Given the description of an element on the screen output the (x, y) to click on. 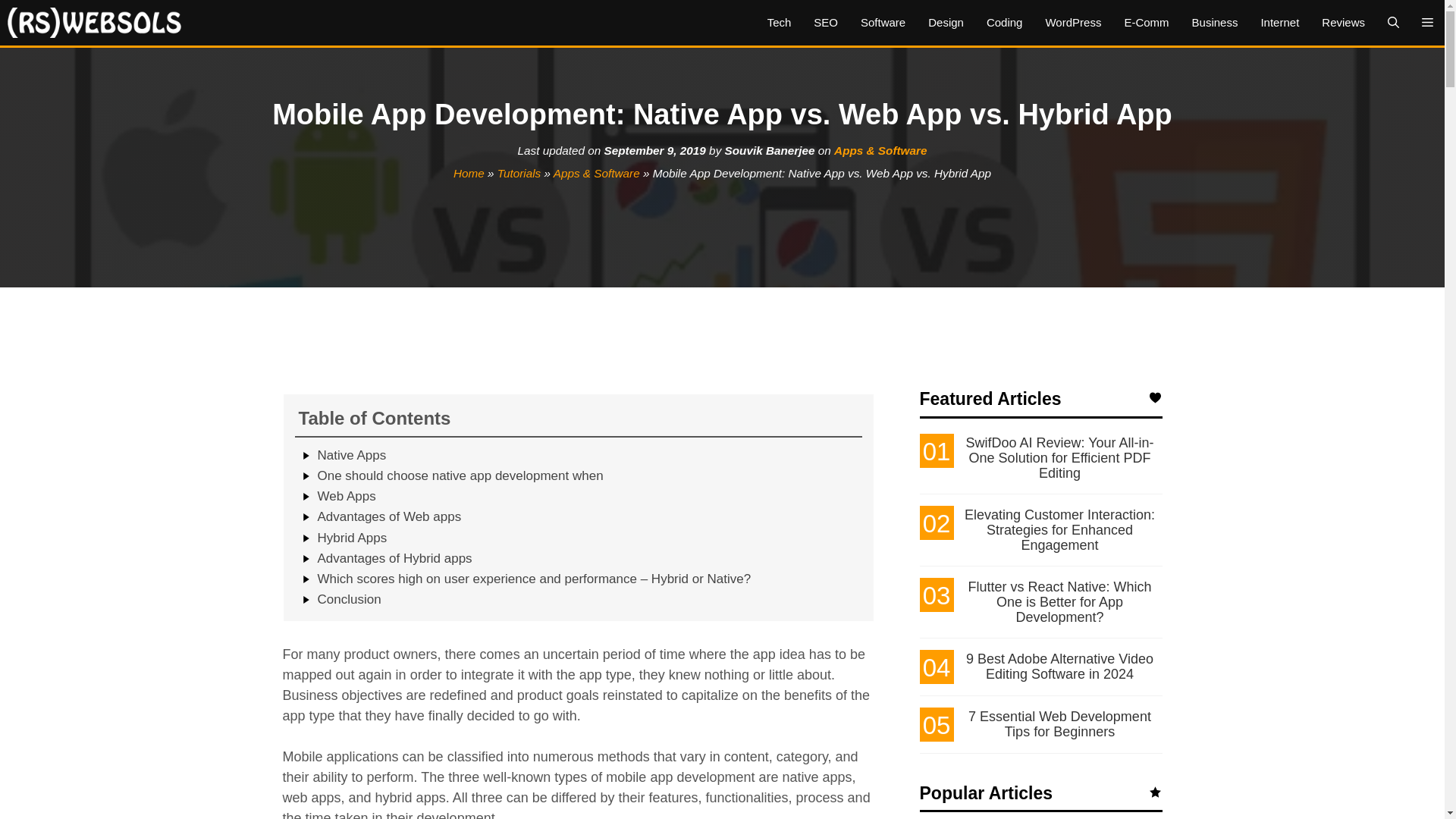
Hybrid Apps (352, 537)
Home (468, 173)
Native Apps (351, 454)
SEO (825, 22)
One should choose native app development when (459, 475)
Conclusion (348, 599)
E-Comm (1145, 22)
Advantages of Hybrid apps (394, 558)
Advantages of Web apps (389, 516)
Native Apps (351, 454)
Advantages of Hybrid apps (394, 558)
One should choose native app development when (459, 475)
WordPress (1072, 22)
Design (946, 22)
Internet (1279, 22)
